Given the description of an element on the screen output the (x, y) to click on. 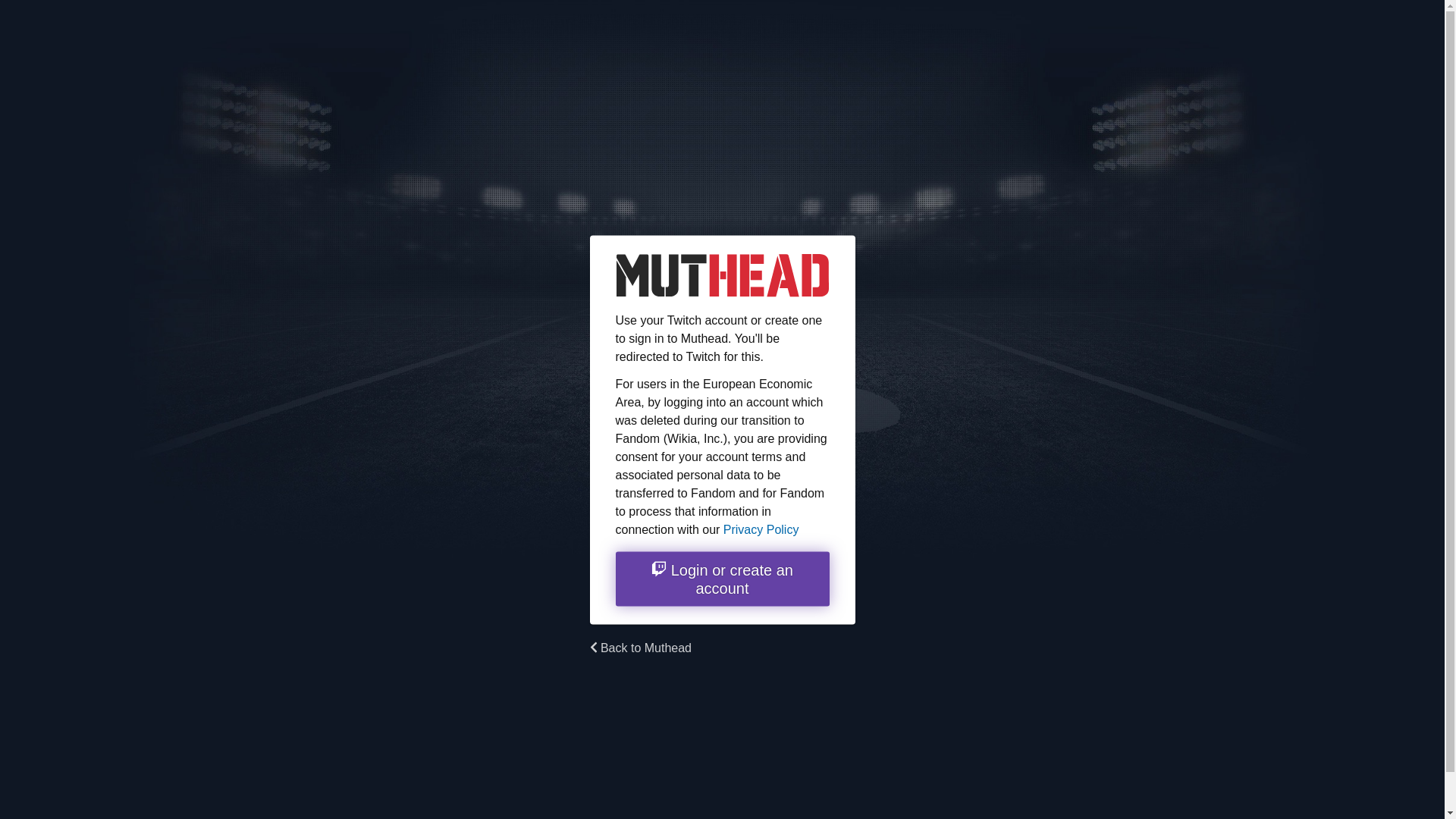
Back to Muthead (641, 646)
Privacy Policy (761, 528)
Login or create an account (722, 578)
Twitch (722, 578)
